Given the description of an element on the screen output the (x, y) to click on. 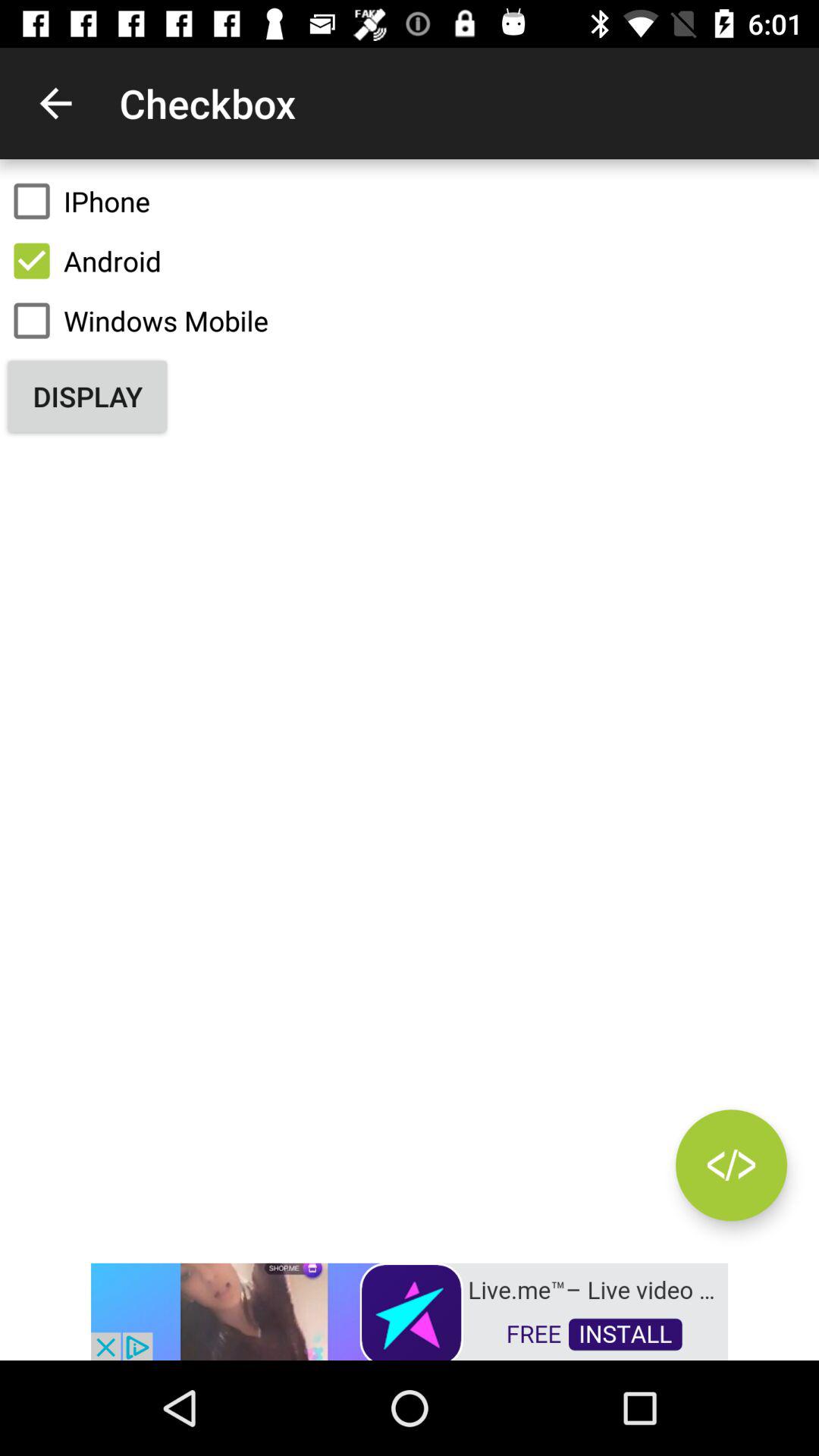
view advertisement (409, 1310)
